Given the description of an element on the screen output the (x, y) to click on. 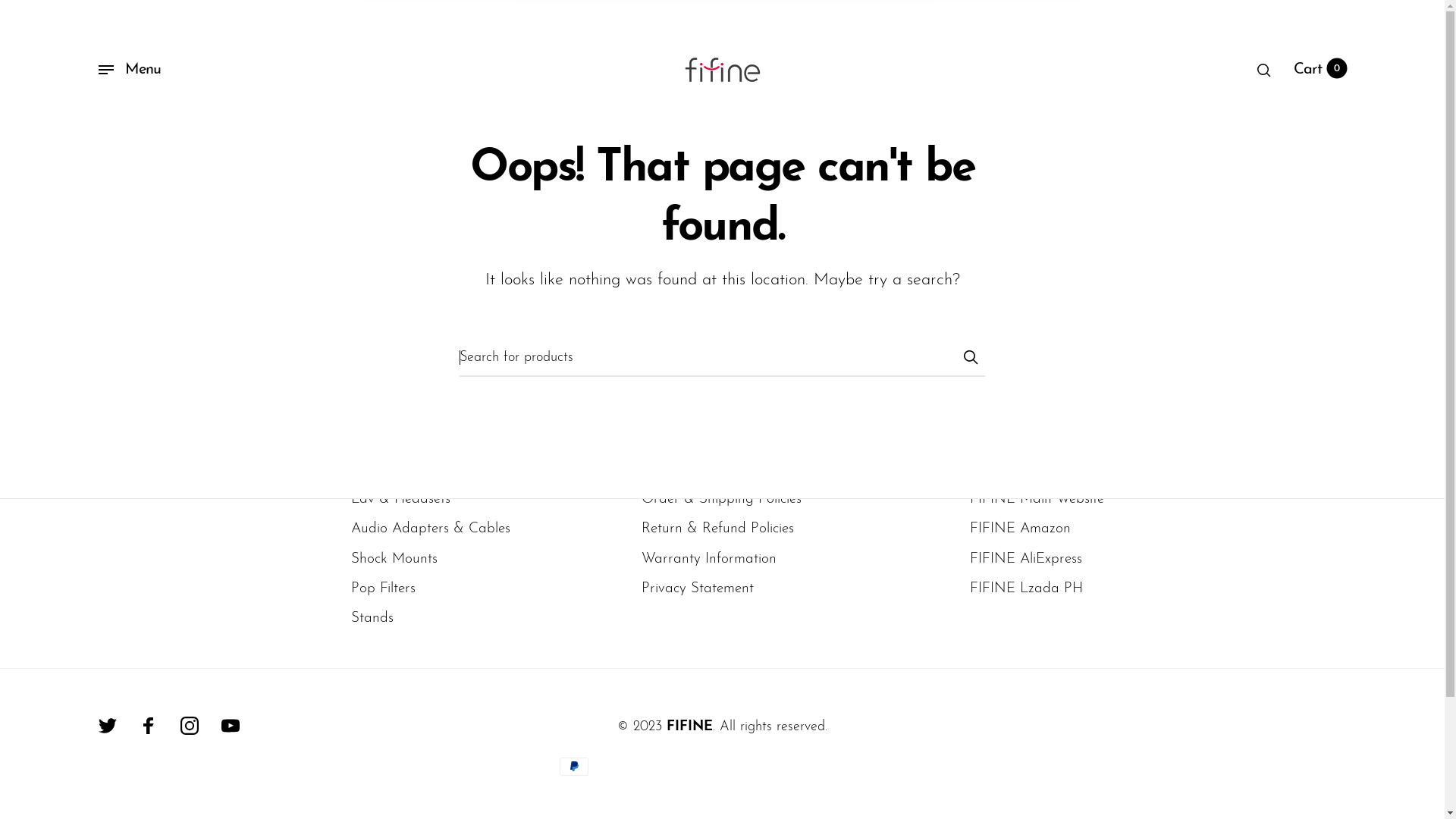
FIFINE on Instagram Element type: hover (189, 725)
Submit Element type: text (969, 357)
FIFINE Amazon Element type: text (1019, 528)
Contact Us Element type: text (675, 469)
Return & Refund Policies Element type: text (717, 528)
FIFINE on Twitter Element type: hover (107, 725)
FIFINE Main Website Element type: text (1036, 499)
FIFINE AliExpress Element type: text (1025, 559)
FIFINE on YouTube Element type: hover (230, 725)
Pop Filters Element type: text (383, 588)
Transmitters & Receivers Element type: text (426, 469)
FIFINE Lzada PH Element type: text (1025, 588)
FIFINE Element type: text (689, 726)
About Us Element type: text (998, 469)
Audio Adapters & Cables Element type: text (430, 528)
Privacy Statement Element type: text (697, 588)
FIFINE on Facebook Element type: hover (148, 725)
Lav & Headsets Element type: text (400, 499)
Stands Element type: text (372, 618)
Order & Shipping Policies Element type: text (721, 499)
Cart
0 Element type: text (1319, 69)
Warranty Information Element type: text (708, 559)
Shock Mounts Element type: text (394, 559)
